Given the description of an element on the screen output the (x, y) to click on. 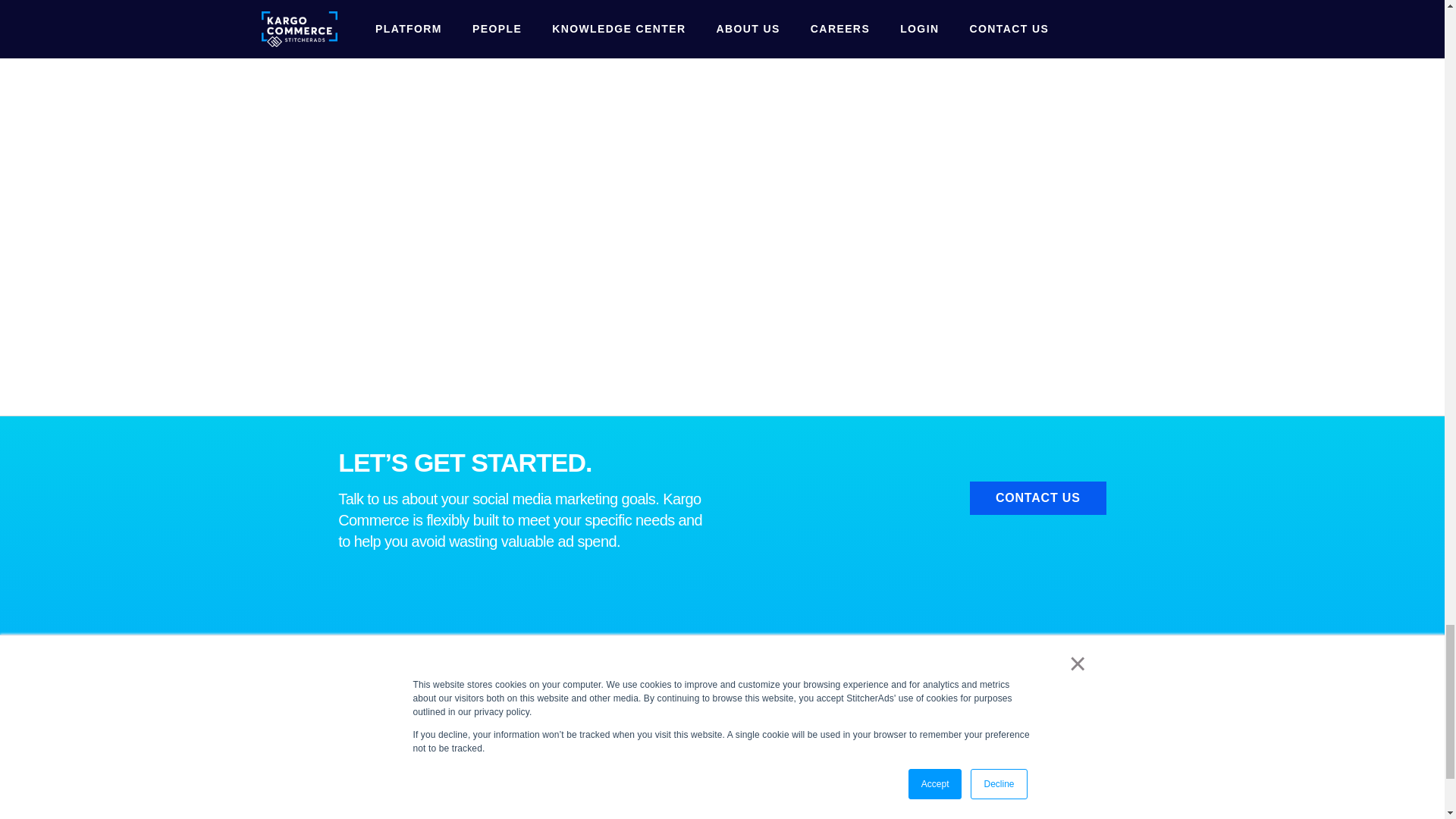
Managed Services (484, 743)
Resources (366, 809)
Reporting (364, 776)
LinkedIn (1090, 650)
Creative Services (482, 709)
Media Buying Services (496, 676)
Data (350, 743)
Facebook (1015, 650)
Creative (360, 676)
Twitter (1053, 650)
CONTACT US (1037, 498)
Activation (364, 709)
